Given the description of an element on the screen output the (x, y) to click on. 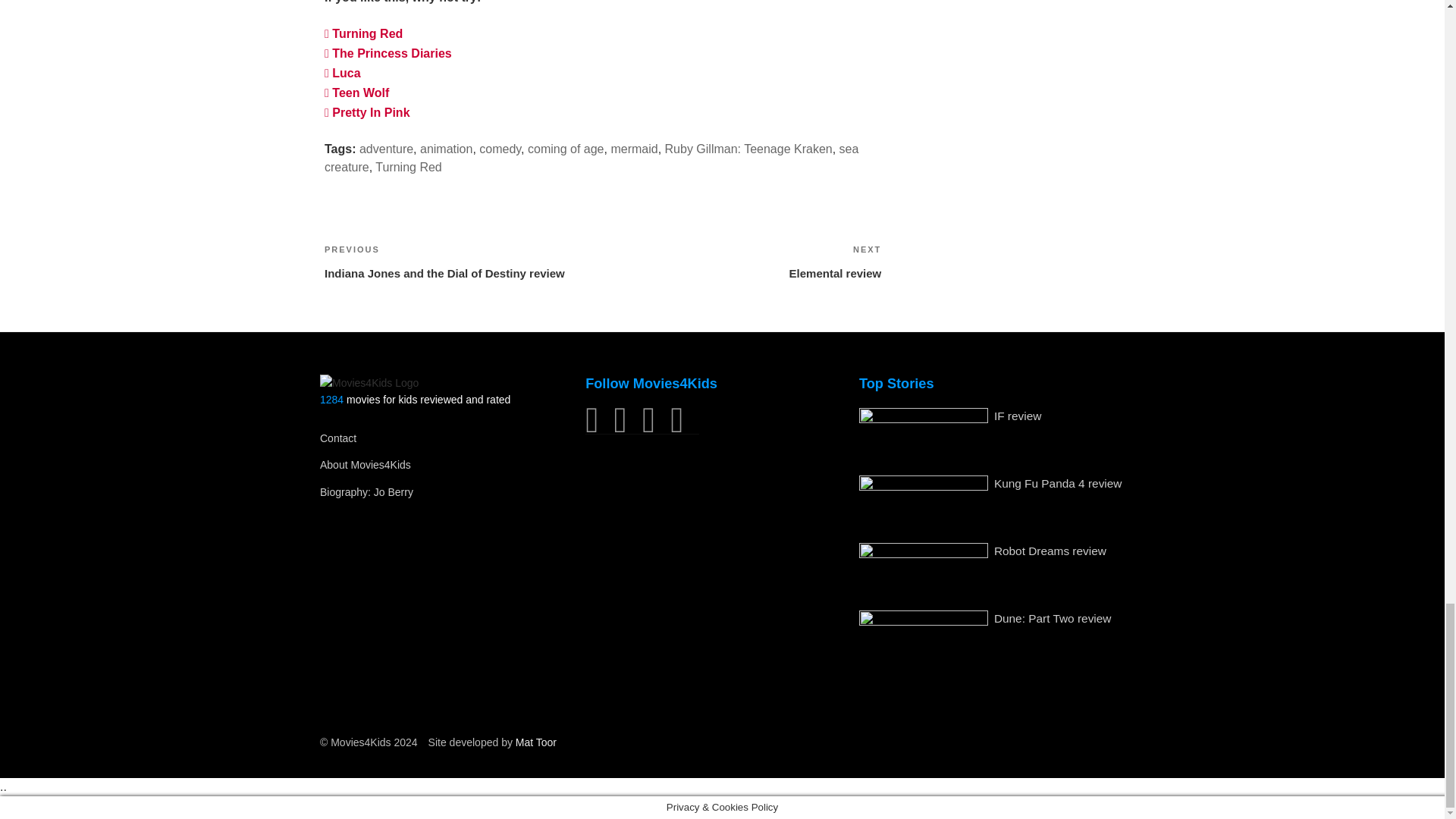
Luca (342, 72)
Teen Wolf (356, 92)
Pretty In Pink (367, 112)
The Princess Diaries (387, 52)
Turning Red (363, 33)
